Given the description of an element on the screen output the (x, y) to click on. 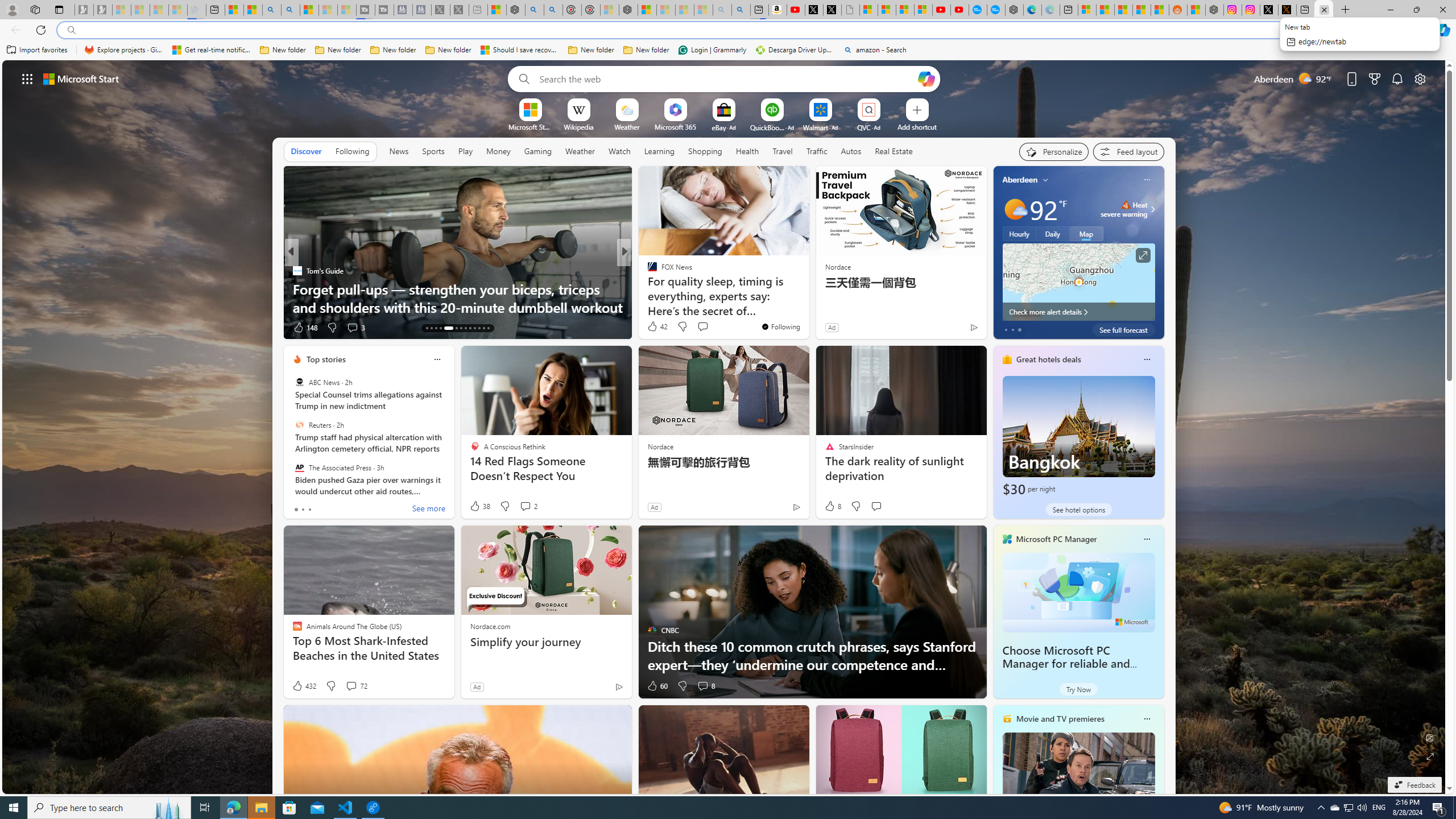
Sports (432, 151)
amazon - Search - Sleeping (721, 9)
BRAINY DOSE (647, 270)
Expand background (1430, 756)
Traffic (816, 151)
Larger map  (1077, 282)
AutomationID: backgroundImagePicture (723, 426)
See hotel options (1078, 509)
AutomationID: tab-25 (488, 328)
